Given the description of an element on the screen output the (x, y) to click on. 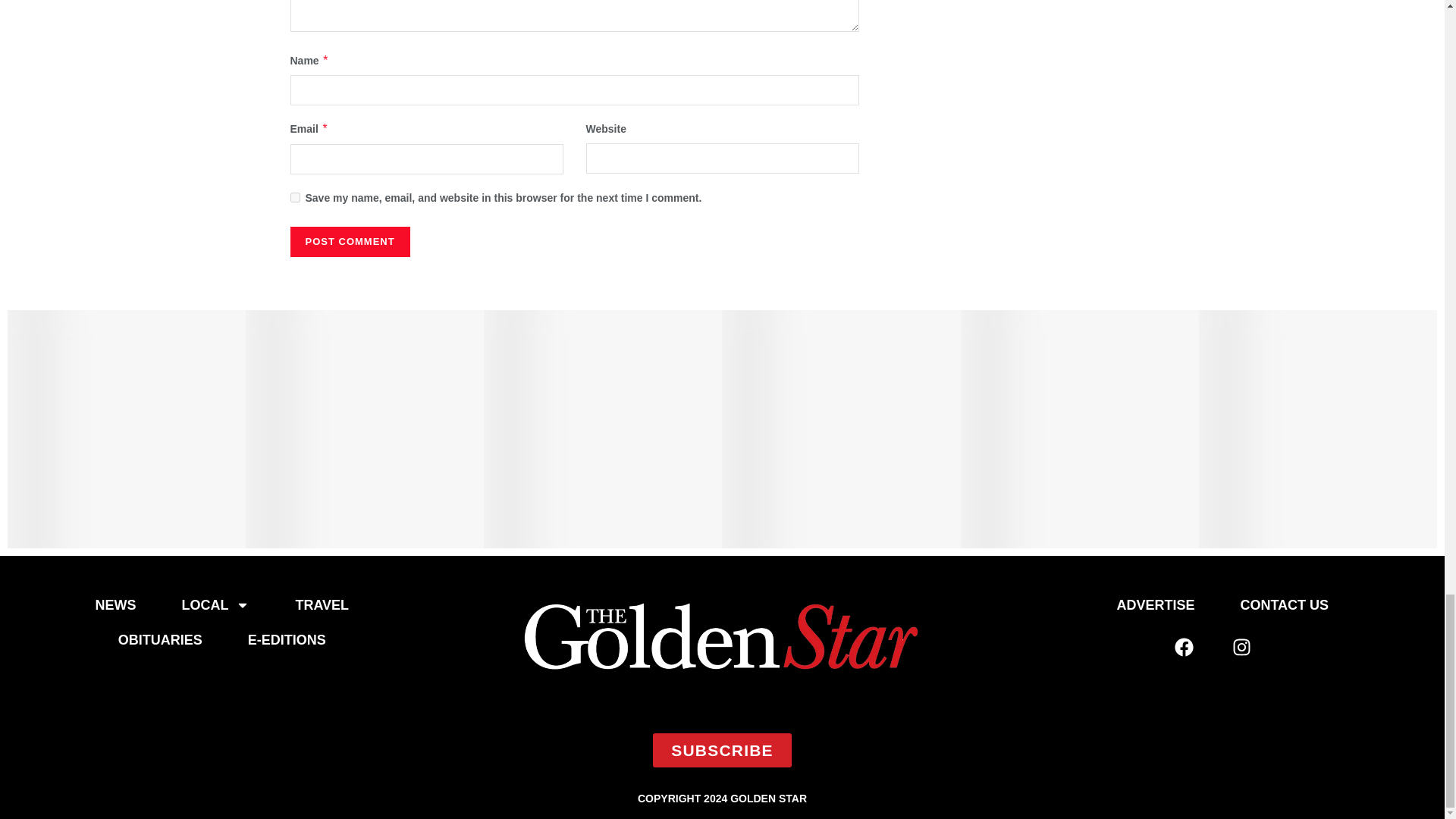
yes (294, 197)
Post Comment (349, 241)
